Given the description of an element on the screen output the (x, y) to click on. 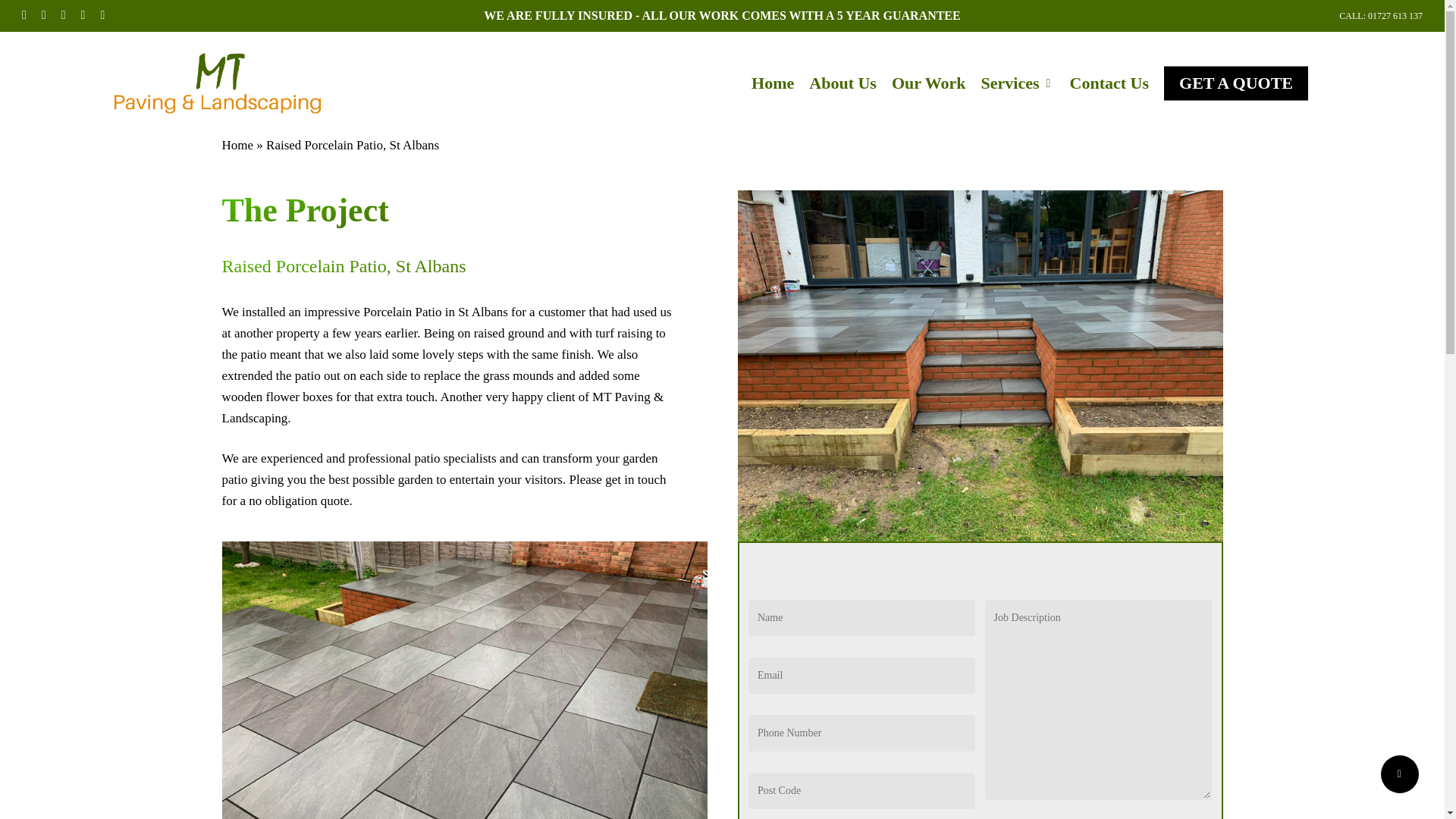
Services (1017, 83)
Contact Us (1110, 83)
Our Work (928, 83)
garden patio (439, 468)
Home (237, 145)
Home (772, 83)
About Us (842, 83)
CALL: 01727 613 137 (1380, 15)
GET A QUOTE (1235, 83)
patio specialists (454, 458)
